Given the description of an element on the screen output the (x, y) to click on. 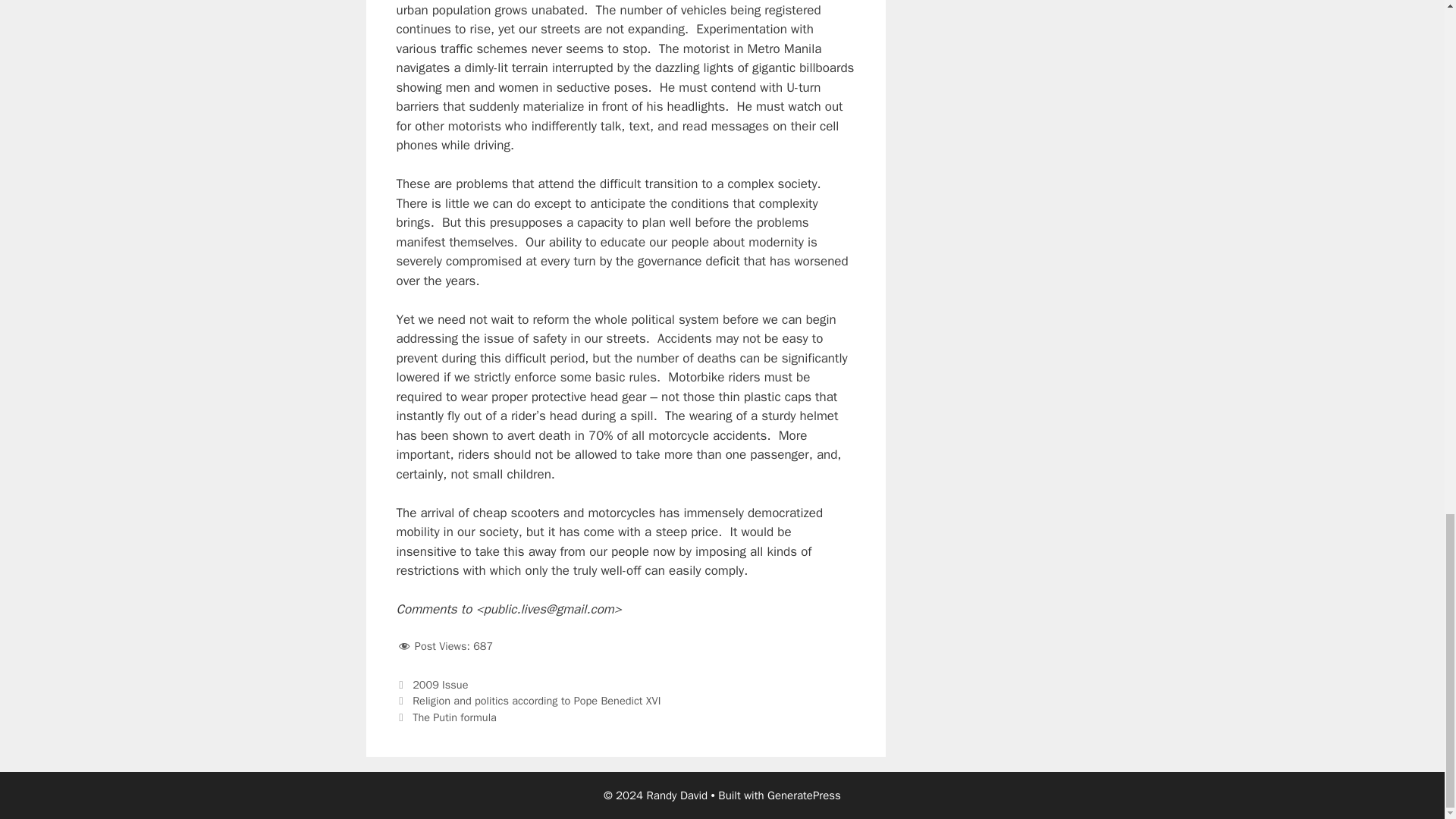
Scroll back to top (1406, 133)
Religion and politics according to Pope Benedict XVI (536, 700)
2009 Issue (439, 684)
